Given the description of an element on the screen output the (x, y) to click on. 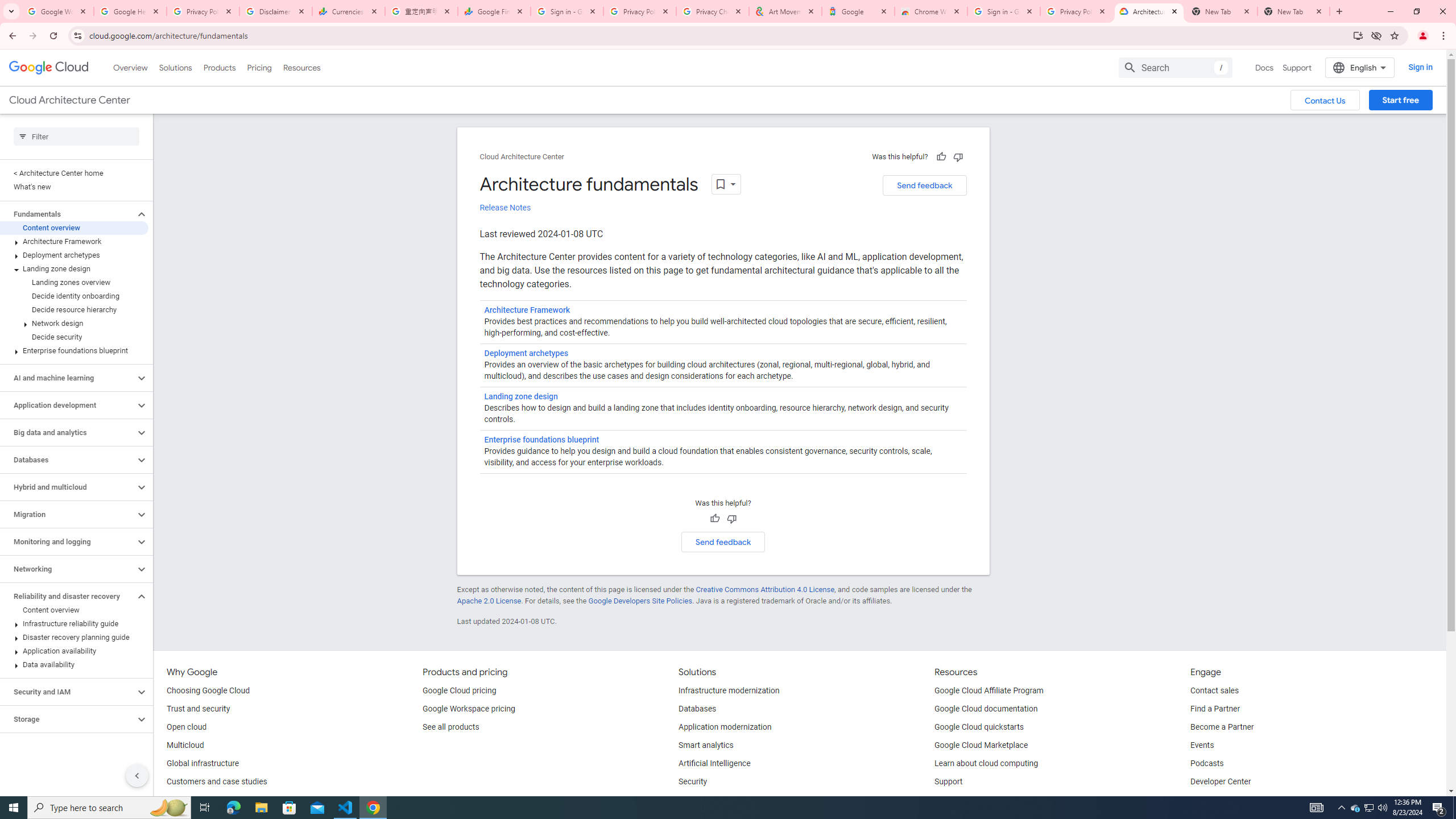
Network design (74, 323)
Hybrid and multicloud (67, 486)
Press Corner (1213, 800)
Security (692, 782)
Smart analytics (705, 745)
Sign in - Google Accounts (1003, 11)
Migration (67, 514)
Helpful (714, 518)
Podcasts (1207, 764)
Type to filter (76, 136)
New Tab (1293, 11)
